Given the description of an element on the screen output the (x, y) to click on. 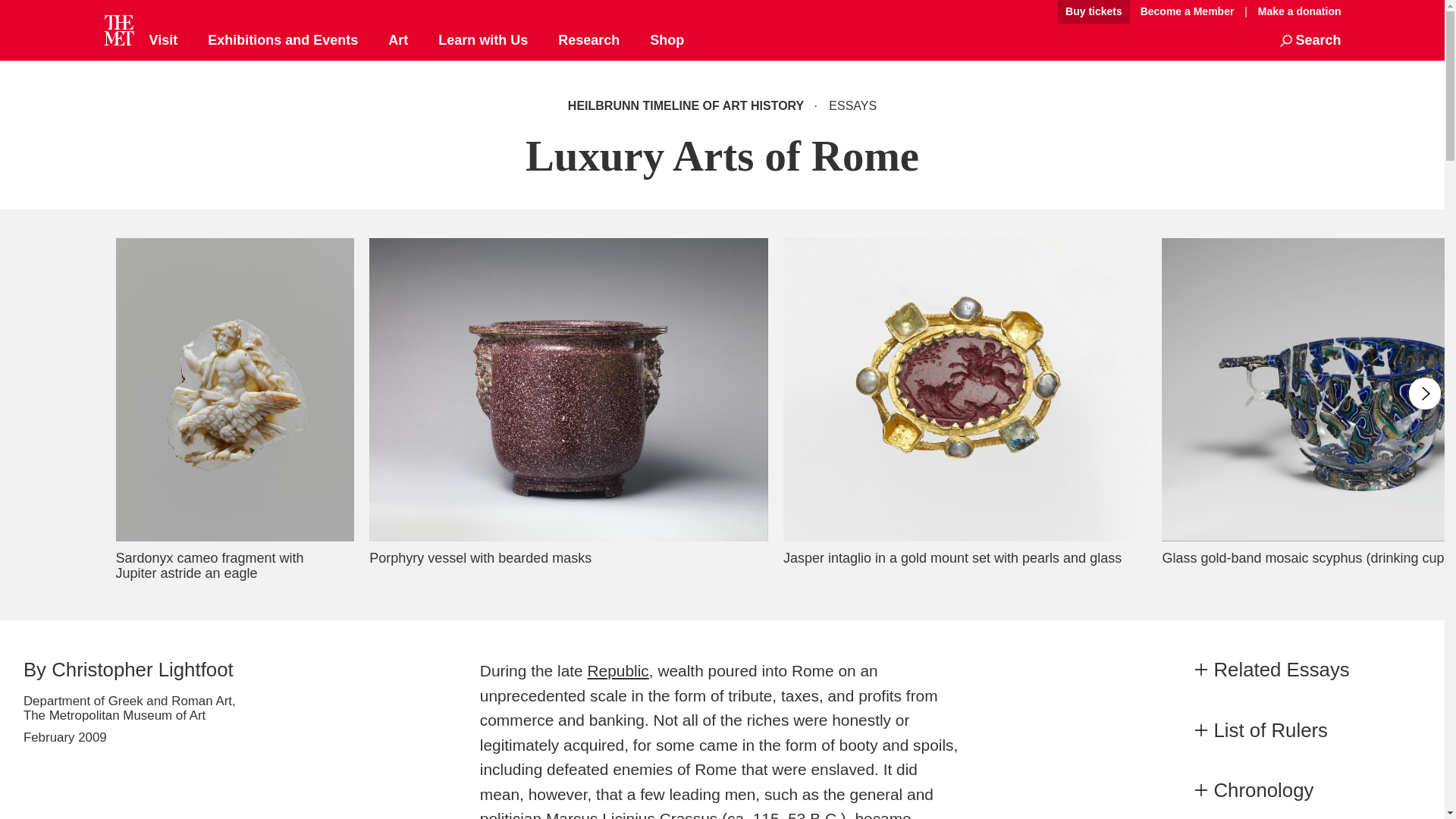
Learn with Us (482, 41)
Shop (666, 41)
Visit (162, 41)
ESSAYS (849, 105)
Member (1186, 12)
Make a donation (1295, 11)
tickets (1093, 12)
Search Button (1309, 41)
HEILBRUNN TIMELINE OF ART HISTORY (687, 105)
Research (588, 41)
Search (1309, 41)
Homepage (118, 30)
Exhibitions and Events (283, 41)
